Given the description of an element on the screen output the (x, y) to click on. 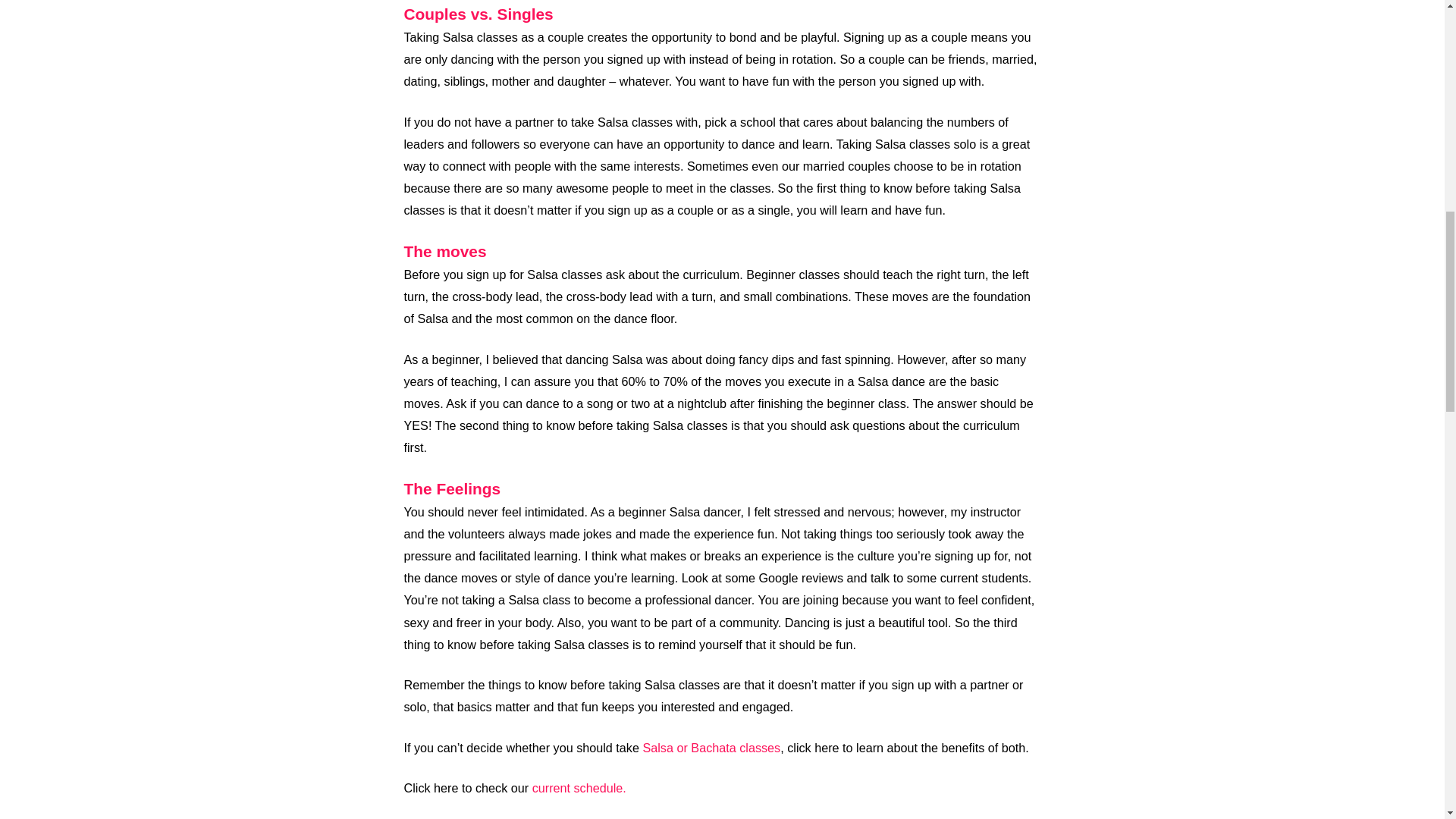
Salsa or Bachata classes (711, 747)
current schedule. (579, 787)
